Given the description of an element on the screen output the (x, y) to click on. 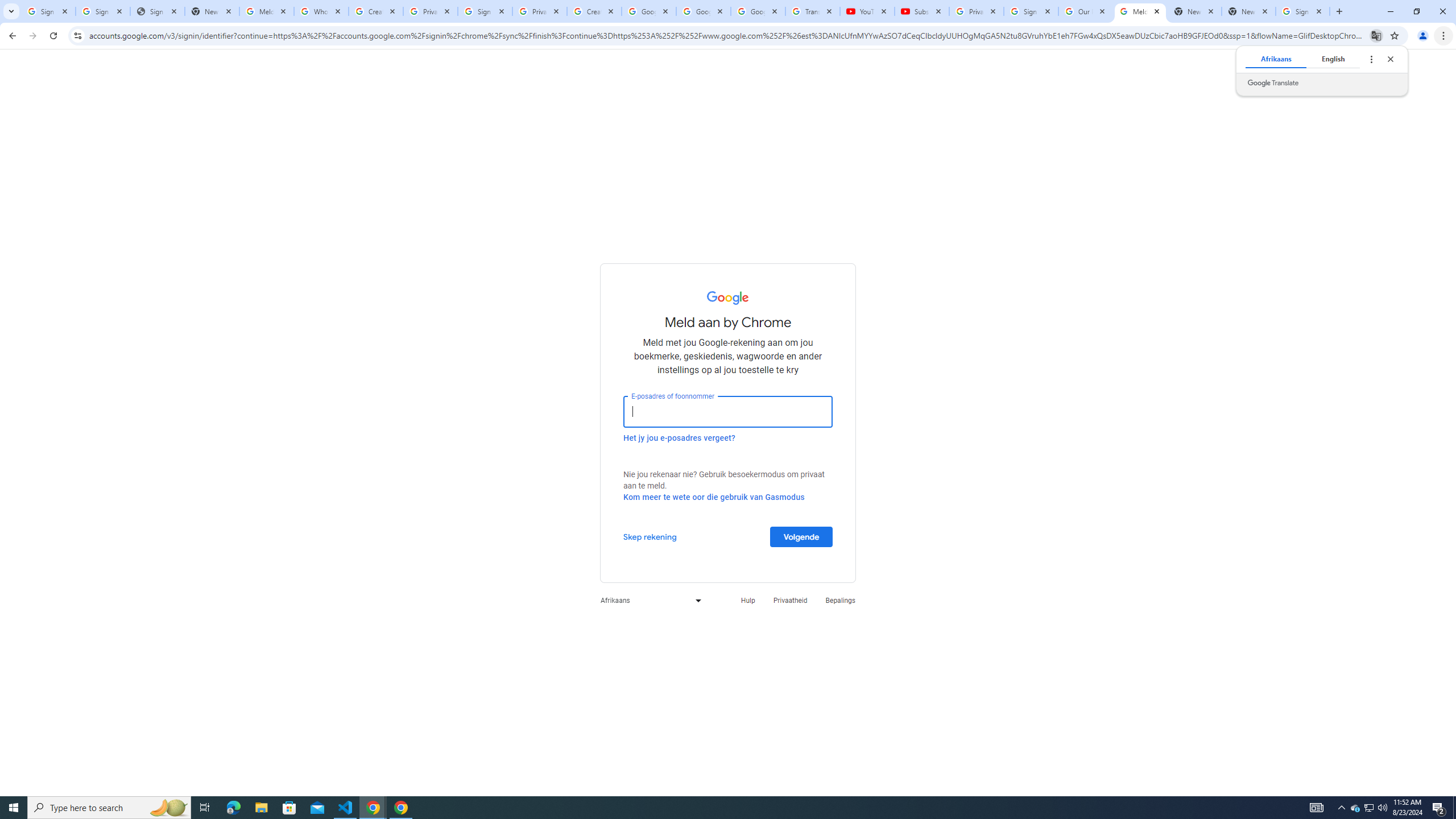
YouTube (866, 11)
Het jy jou e-posadres vergeet? (678, 437)
Sign in - Google Accounts (1303, 11)
Subscriptions - YouTube (921, 11)
Afrikaans (1275, 58)
Sign in - Google Accounts (1030, 11)
Sign in - Google Accounts (484, 11)
